Given the description of an element on the screen output the (x, y) to click on. 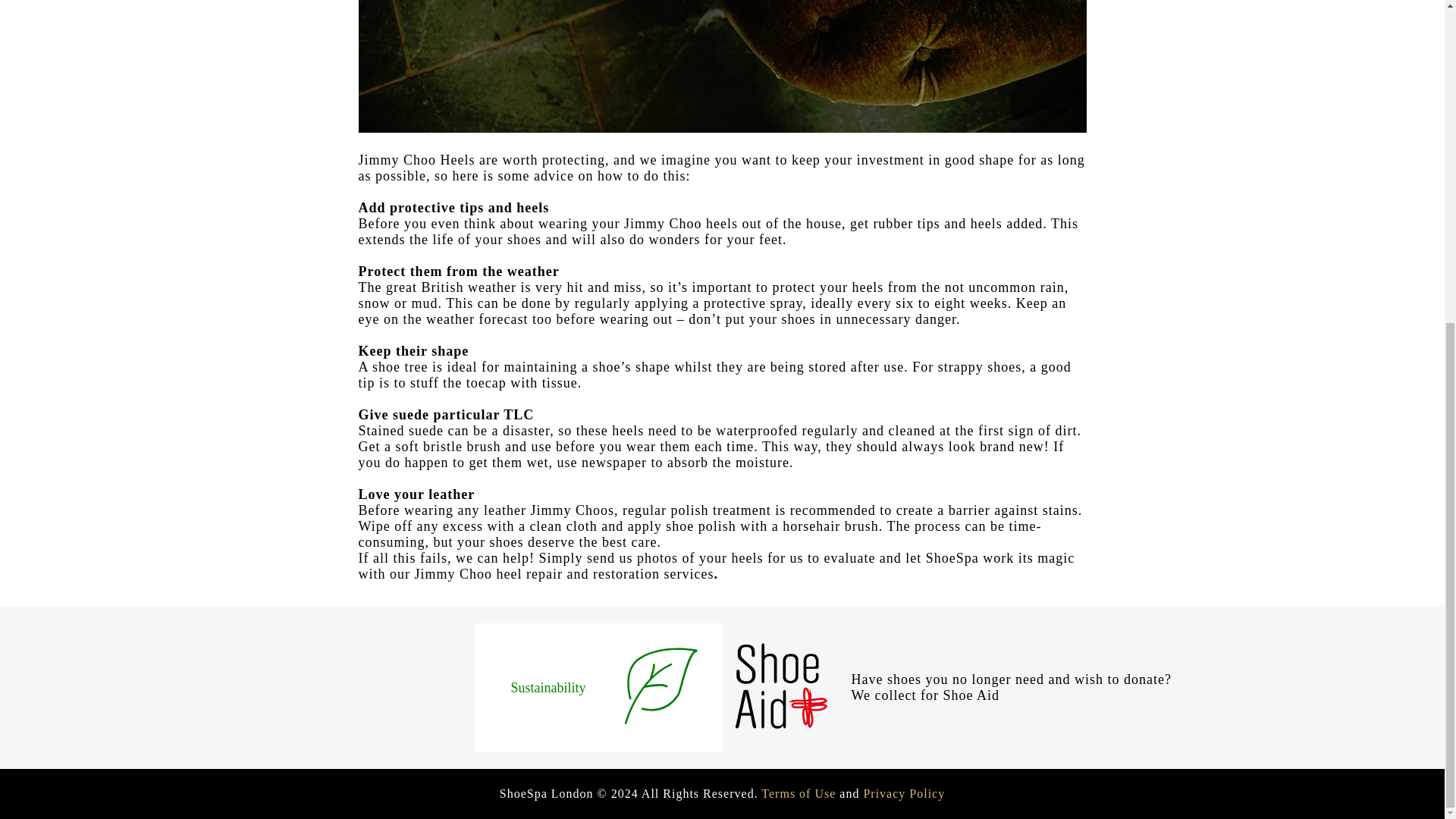
Terms of Use (798, 793)
Privacy Policy (903, 793)
Sustainability (548, 687)
Jimmy Choo heel repair and restoration services (563, 573)
